Given the description of an element on the screen output the (x, y) to click on. 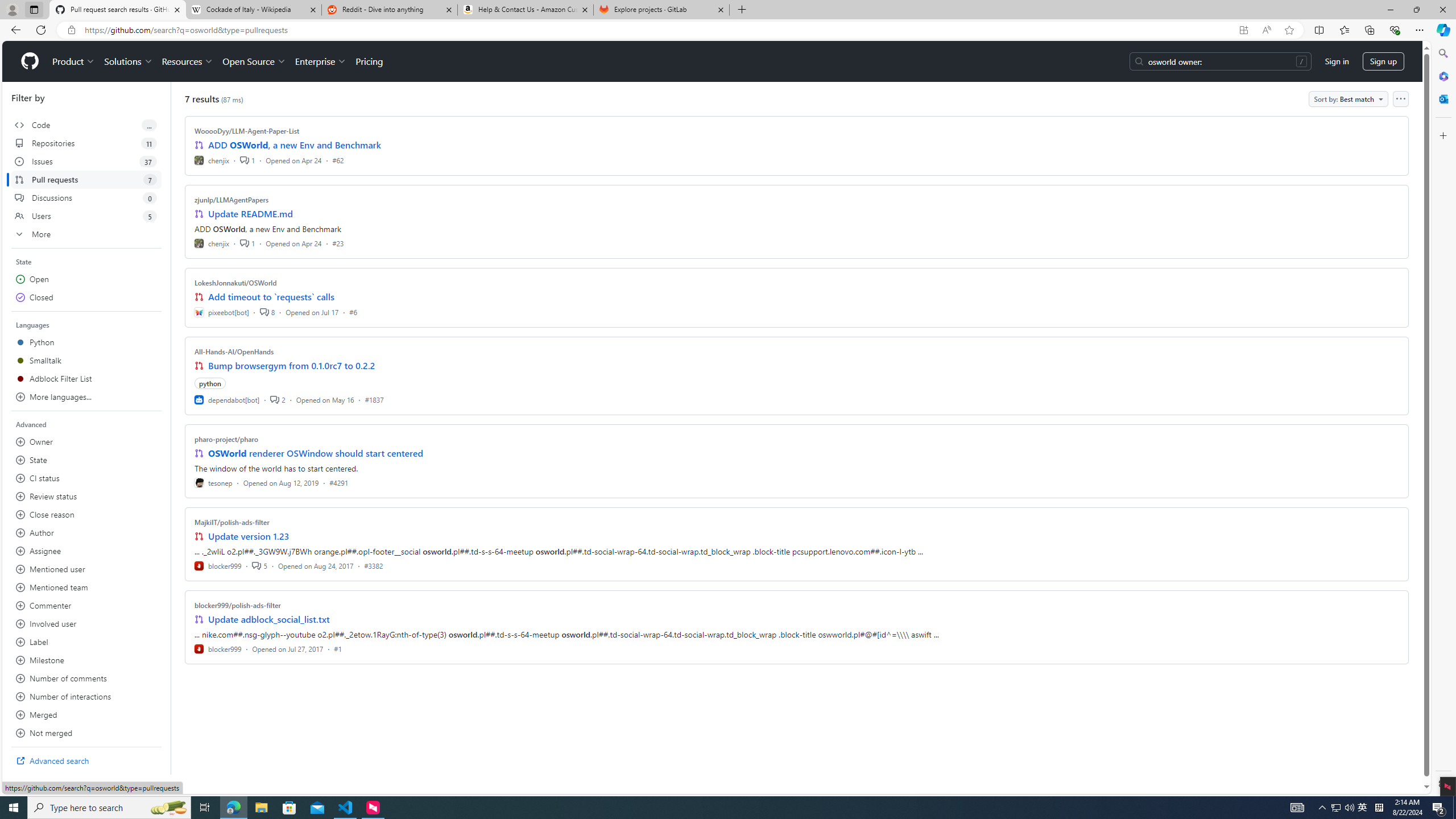
Bump browsergym from 0.1.0rc7 to 0.2.2 (291, 365)
Product (74, 60)
Product (74, 60)
